Given the description of an element on the screen output the (x, y) to click on. 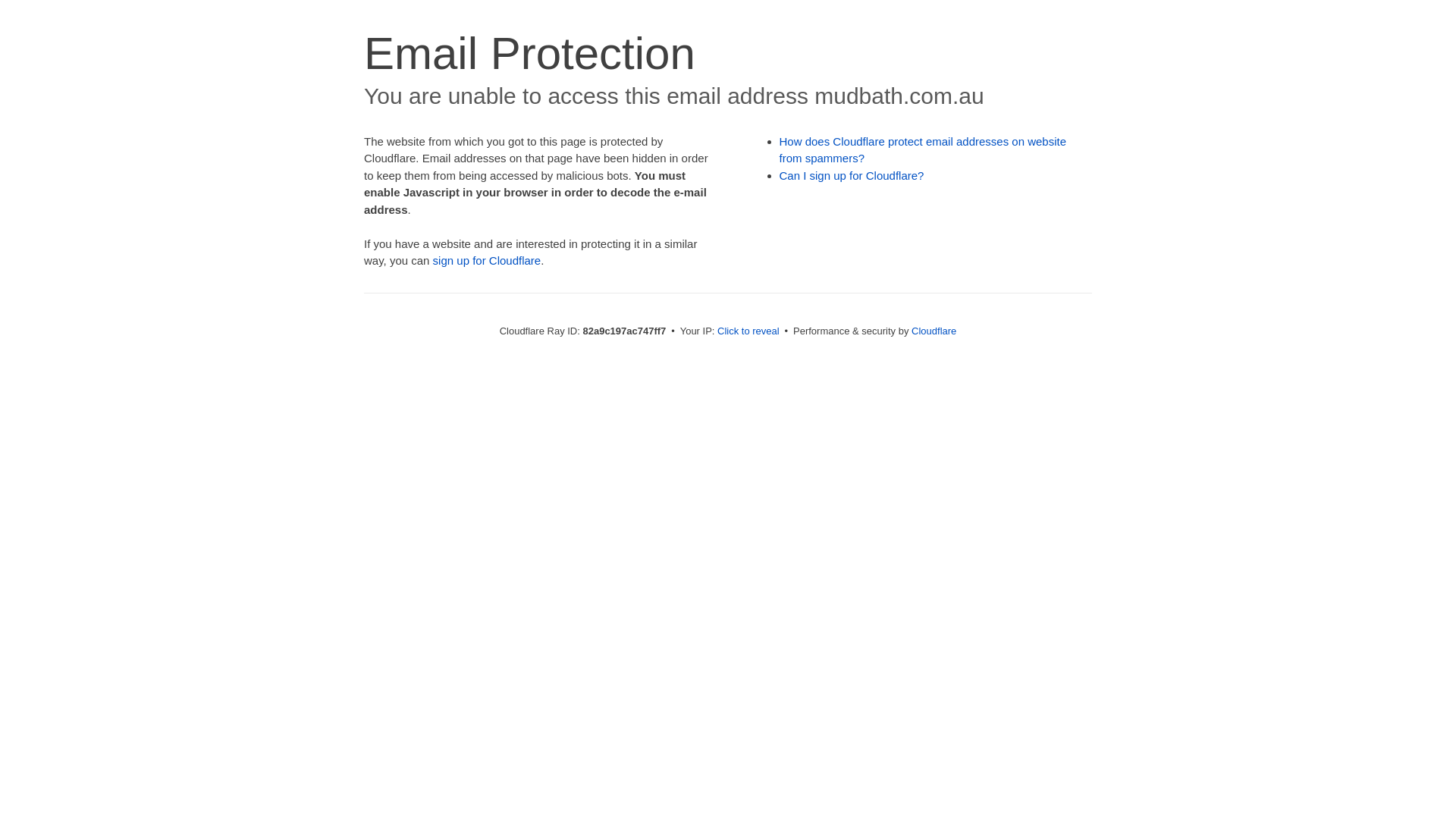
sign up for Cloudflare Element type: text (487, 260)
Click to reveal Element type: text (748, 330)
Cloudflare Element type: text (933, 330)
Can I sign up for Cloudflare? Element type: text (851, 175)
